Given the description of an element on the screen output the (x, y) to click on. 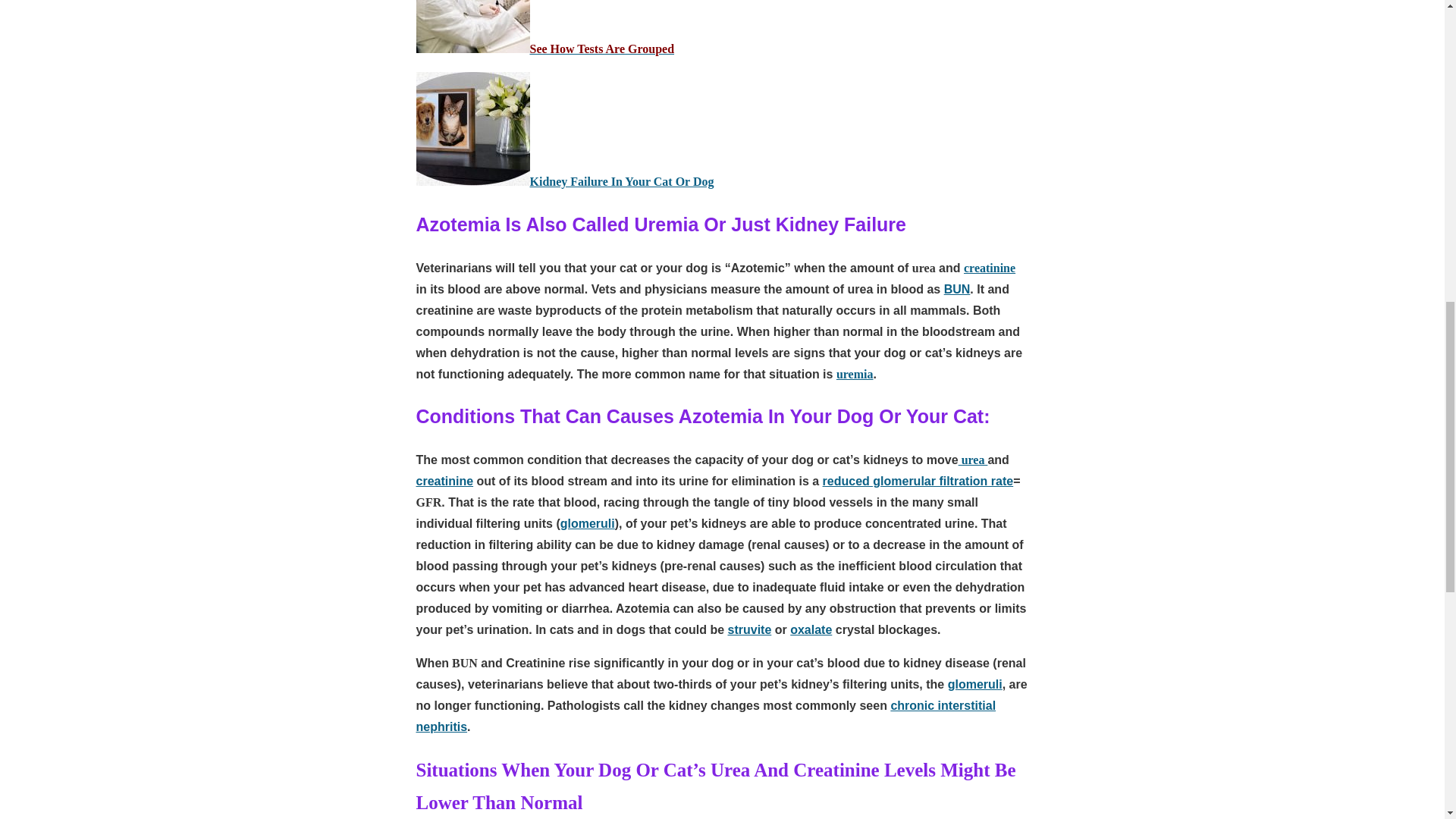
reduced glomerular filtration rate (917, 481)
uremia (854, 373)
creatinine (988, 267)
chronic interstitial nephritis (704, 716)
glomeruli (975, 684)
glomeruli (587, 522)
struvite (749, 629)
See How Tests Are Grouped (601, 48)
BUN (957, 288)
Kidney Failure In Your Cat Or Dog (621, 181)
